Given the description of an element on the screen output the (x, y) to click on. 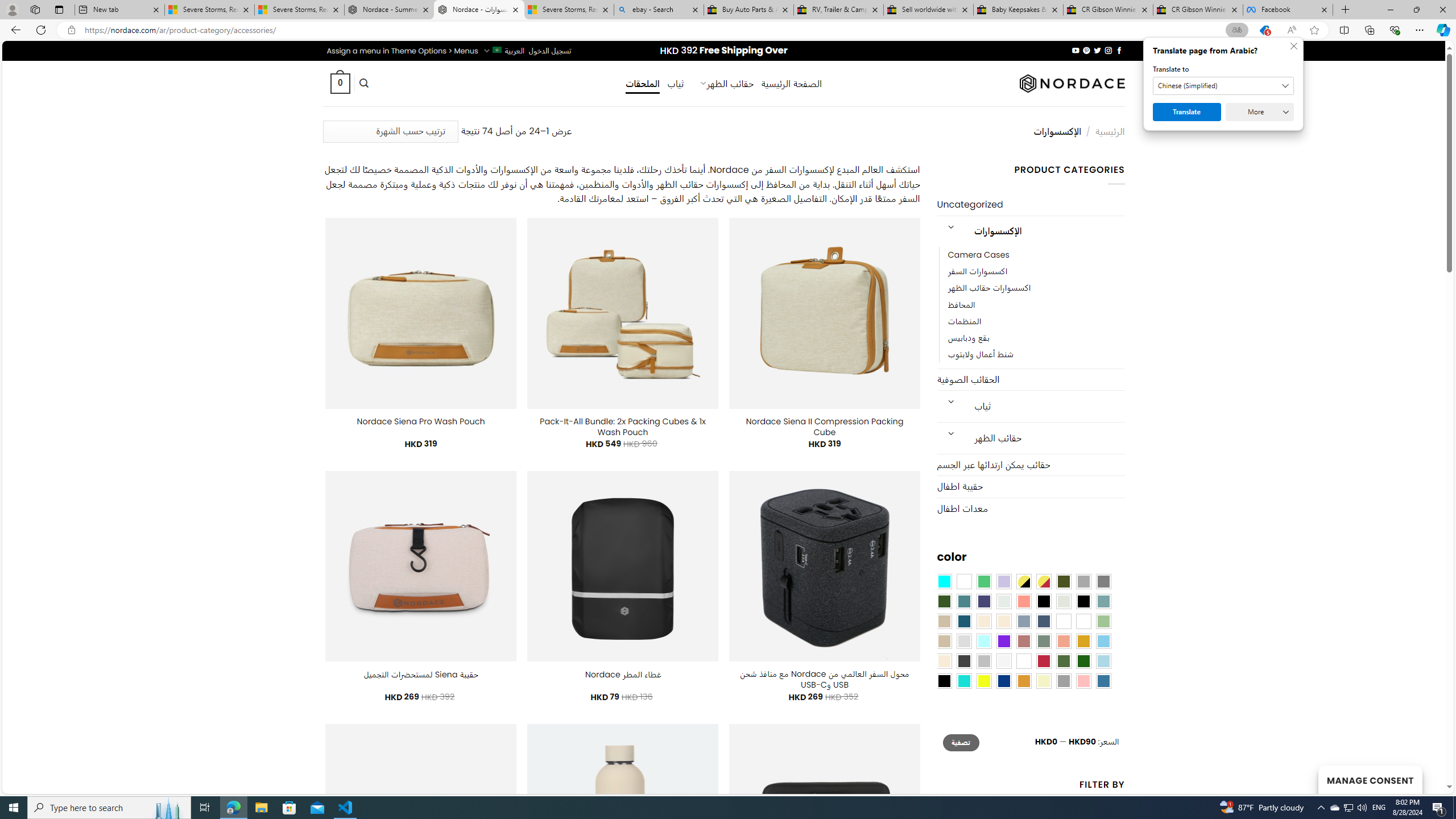
Kelp (1063, 621)
Translate (1187, 112)
Assign a menu in Theme Options > Menus (402, 50)
Brownie (944, 621)
